Given the description of an element on the screen output the (x, y) to click on. 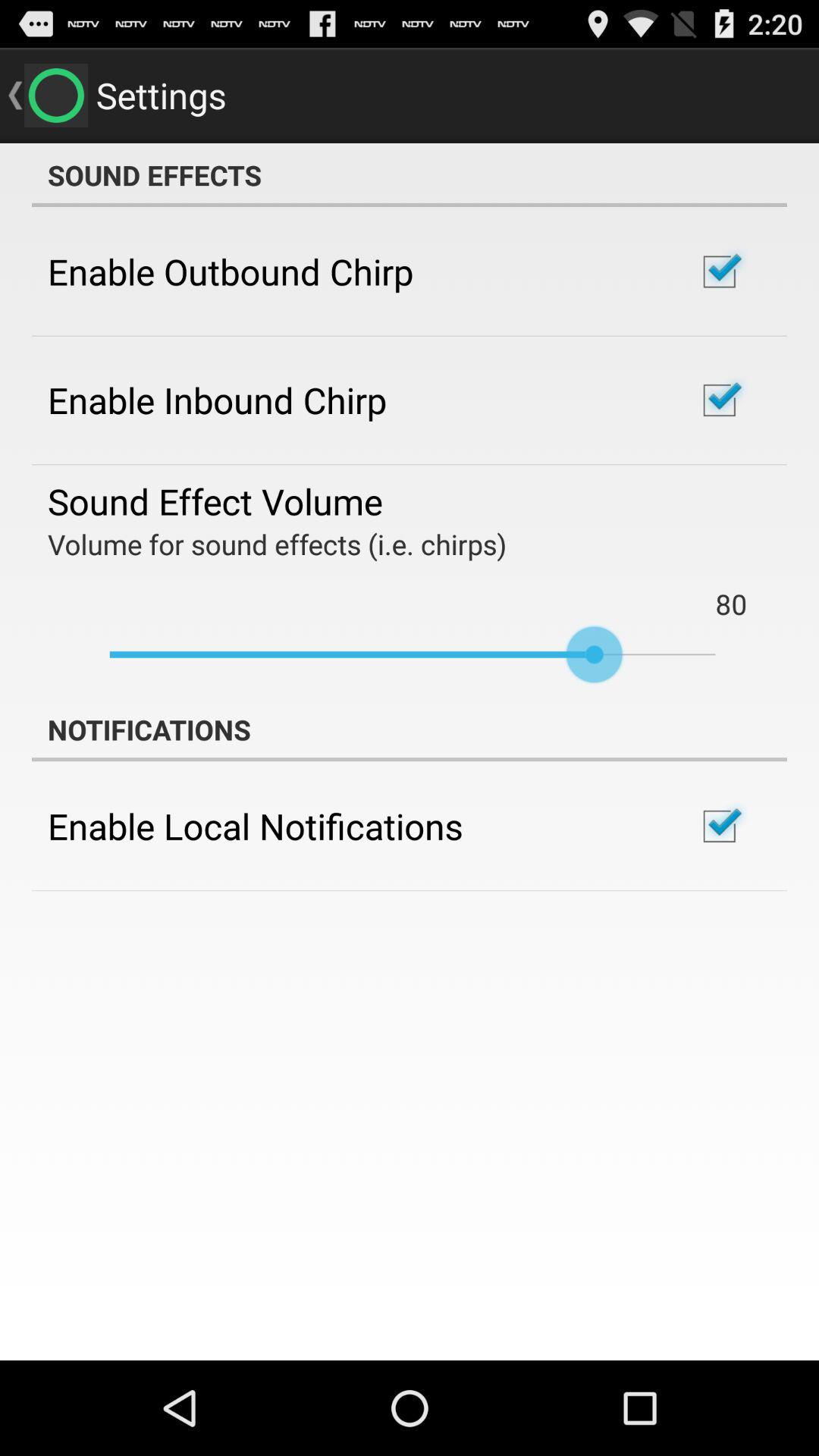
launch item below notifications icon (254, 825)
